Given the description of an element on the screen output the (x, y) to click on. 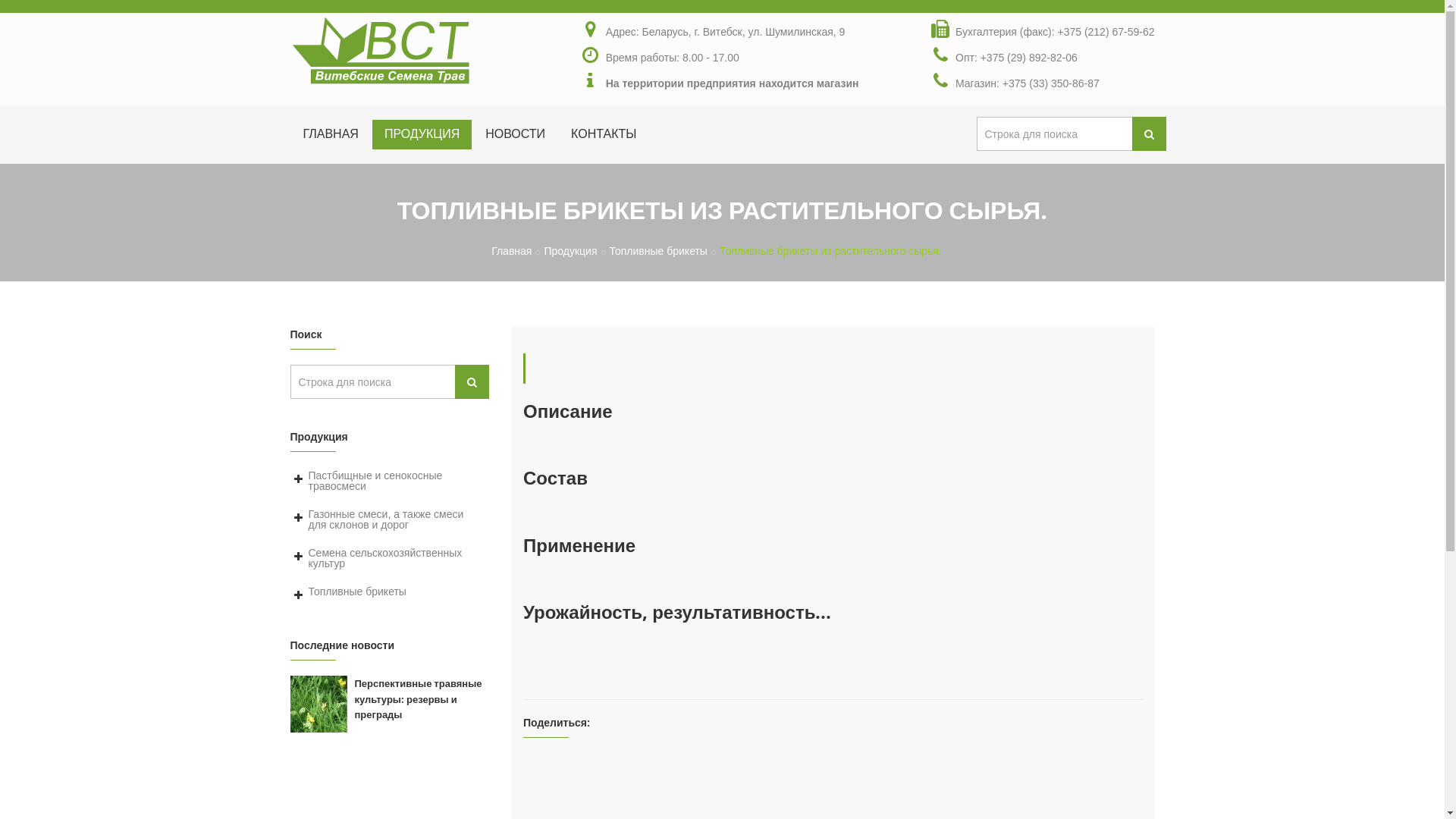
+375 (33) 350-86-87 Element type: text (1050, 83)
+375 (212) 67-59-62 Element type: text (1105, 31)
+375 (29) 892-82-06 Element type: text (1028, 57)
